Given the description of an element on the screen output the (x, y) to click on. 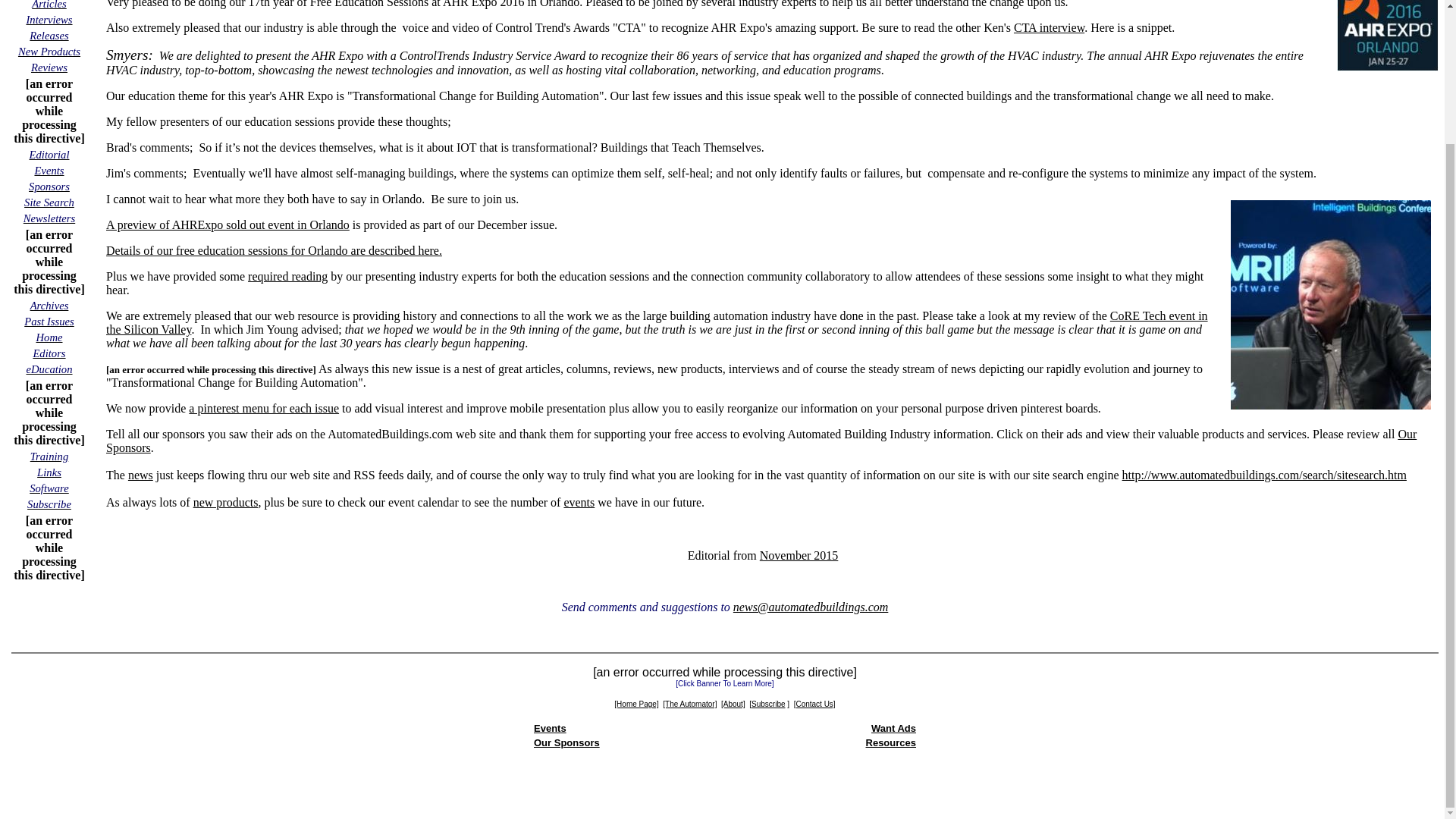
Training (49, 455)
Our Sponsors (761, 440)
events (578, 502)
Links (49, 472)
Editors (48, 352)
Archives (49, 305)
Releases (48, 34)
new products (226, 502)
Events (48, 169)
